Given the description of an element on the screen output the (x, y) to click on. 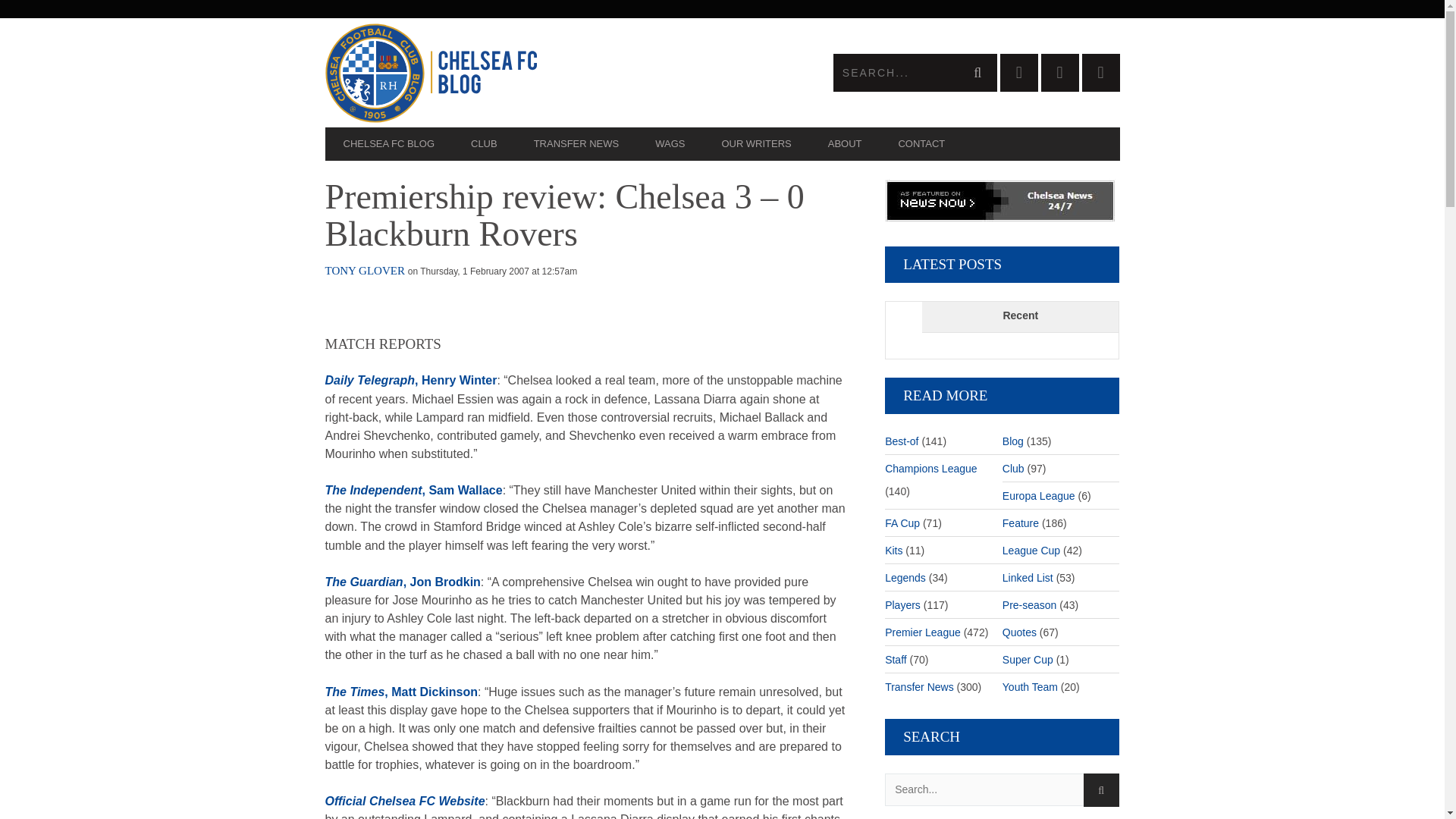
OUR WRITERS (756, 144)
CONTACT (920, 144)
MATCH REPORT: CHELSEA 3 BLACKBURN ROVERS 0 (404, 800)
ABOUT (844, 144)
Posts by Tony Glover (364, 270)
Chelsea a big noise again (410, 379)
CHELSEA FC BLOG (388, 144)
Cole injury casts cloud over Chelsea's easy march (402, 581)
Chelsea FC Blog (523, 72)
WAGS (670, 144)
Home (388, 144)
TRANSFER NEWS (576, 144)
CLUB (483, 144)
